Given the description of an element on the screen output the (x, y) to click on. 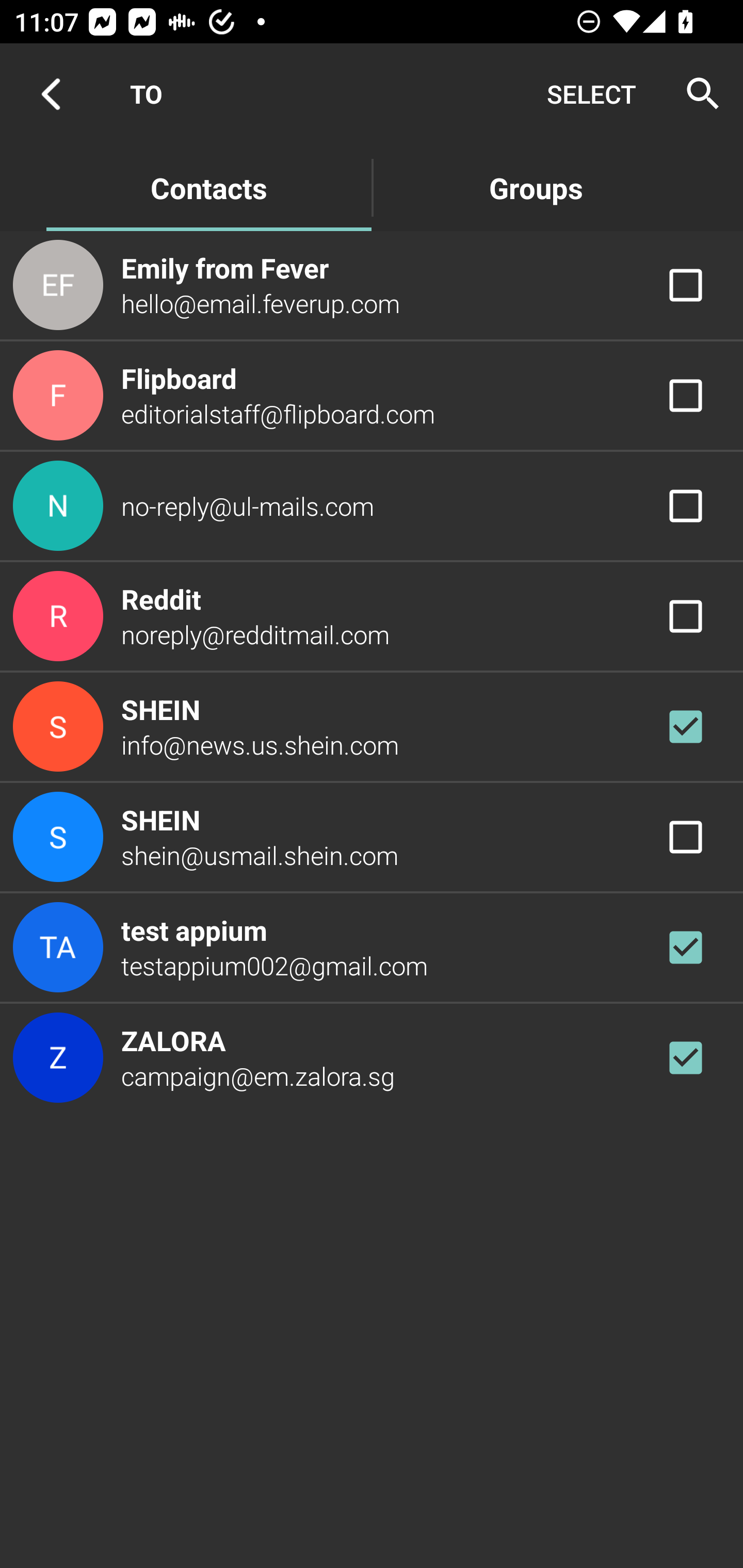
Navigate up (50, 93)
SELECT (590, 93)
Search (696, 93)
Contacts (208, 187)
Groups (535, 187)
Emily from Fever hello@email.feverup.com (371, 284)
Flipboard editorialstaff@flipboard.com (371, 395)
no-reply@ul-mails.com (371, 505)
Reddit noreply@redditmail.com (371, 616)
SHEIN info@news.us.shein.com (371, 726)
SHEIN shein@usmail.shein.com (371, 836)
test appium testappium002@gmail.com (371, 947)
ZALORA campaign@em.zalora.sg (371, 1057)
